Given the description of an element on the screen output the (x, y) to click on. 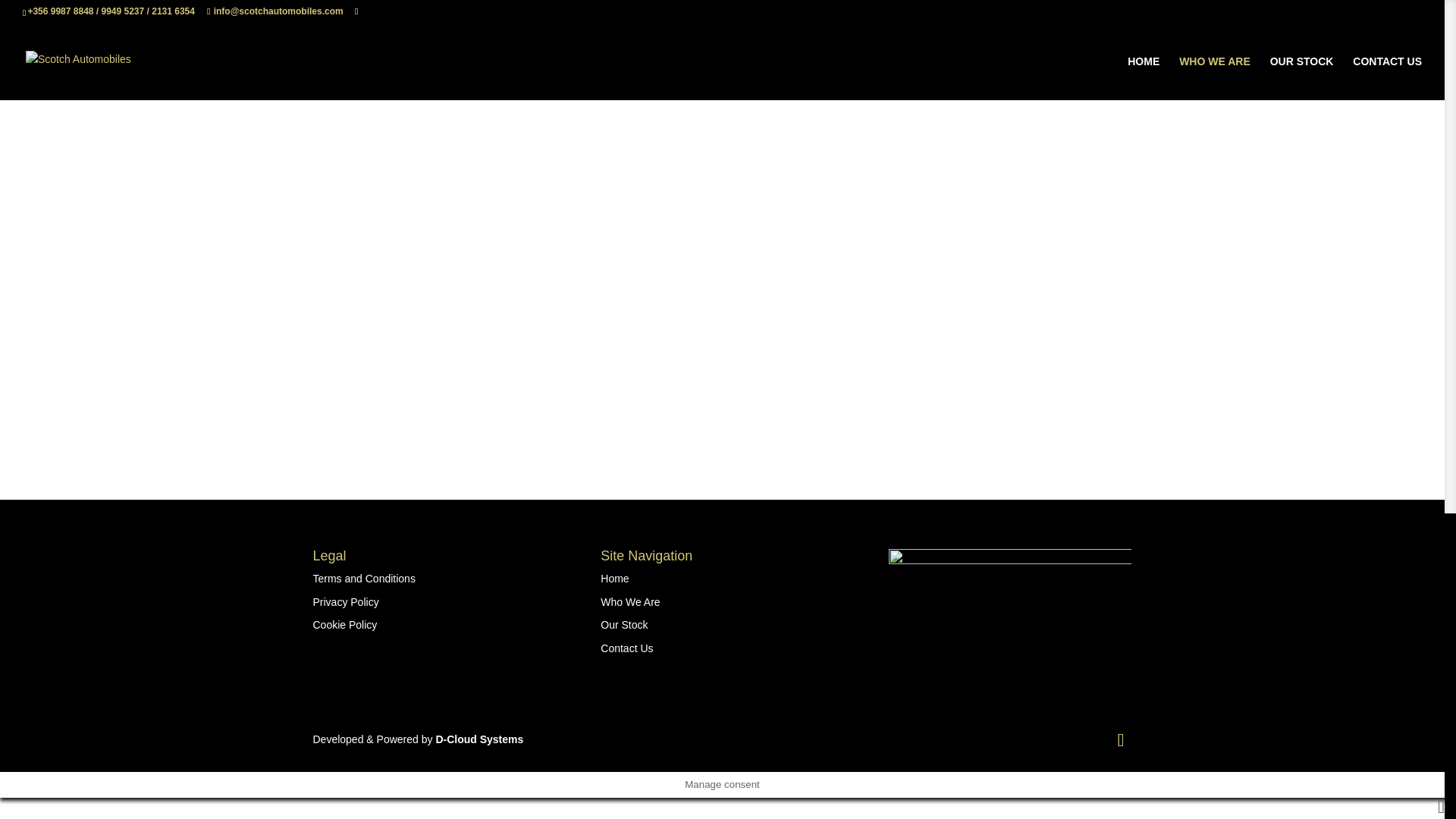
Terms and Conditions (363, 578)
Who We Are (629, 601)
Privacy Policy (345, 601)
D-Cloud Systems (478, 739)
Our Stock (623, 624)
Contact Us (625, 648)
Cookie Policy (345, 624)
Home (613, 578)
